Given the description of an element on the screen output the (x, y) to click on. 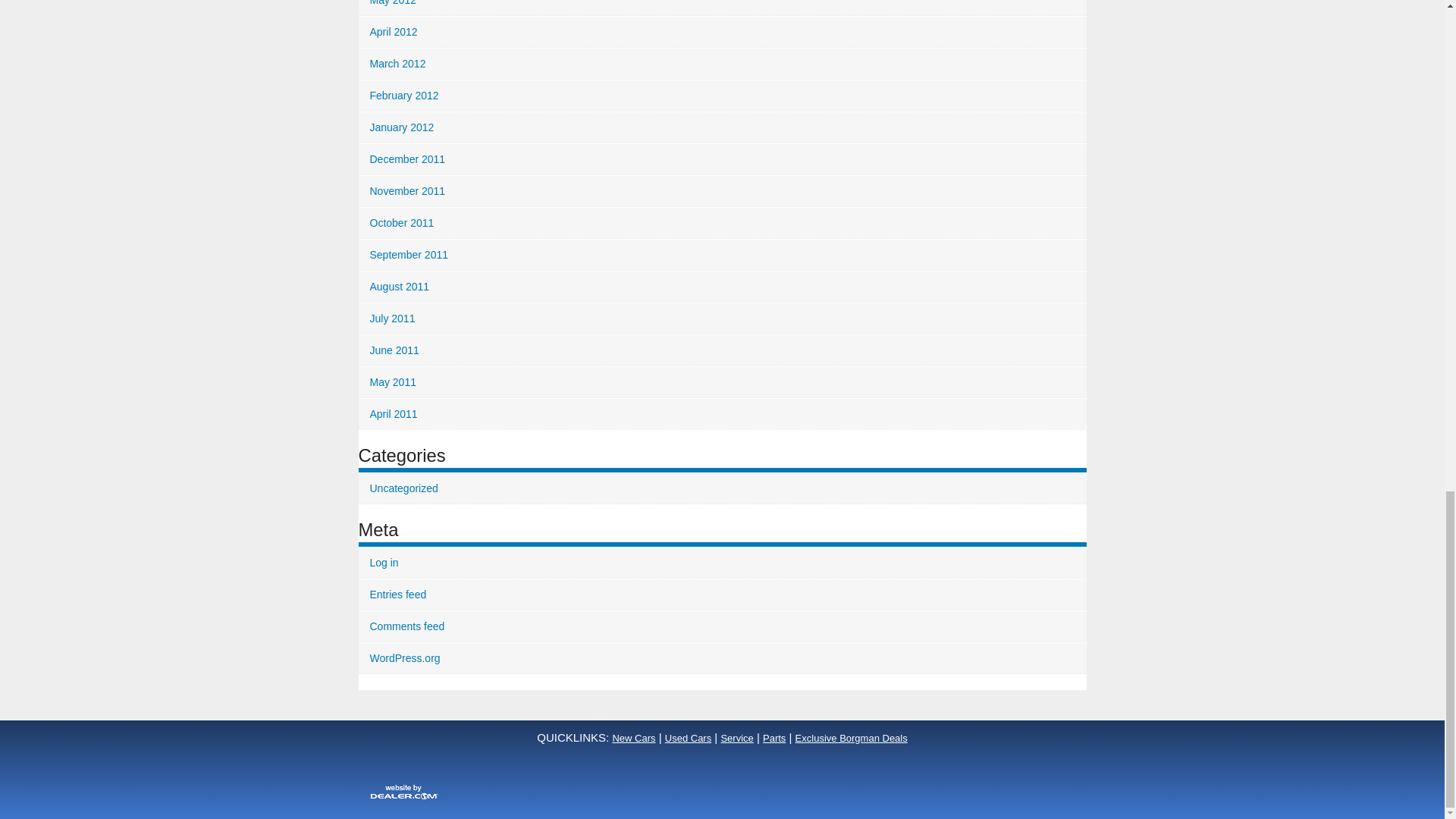
November 2011 (722, 191)
February 2012 (722, 95)
January 2012 (722, 127)
April 2012 (722, 31)
March 2012 (722, 63)
May 2012 (722, 7)
December 2011 (722, 159)
